Given the description of an element on the screen output the (x, y) to click on. 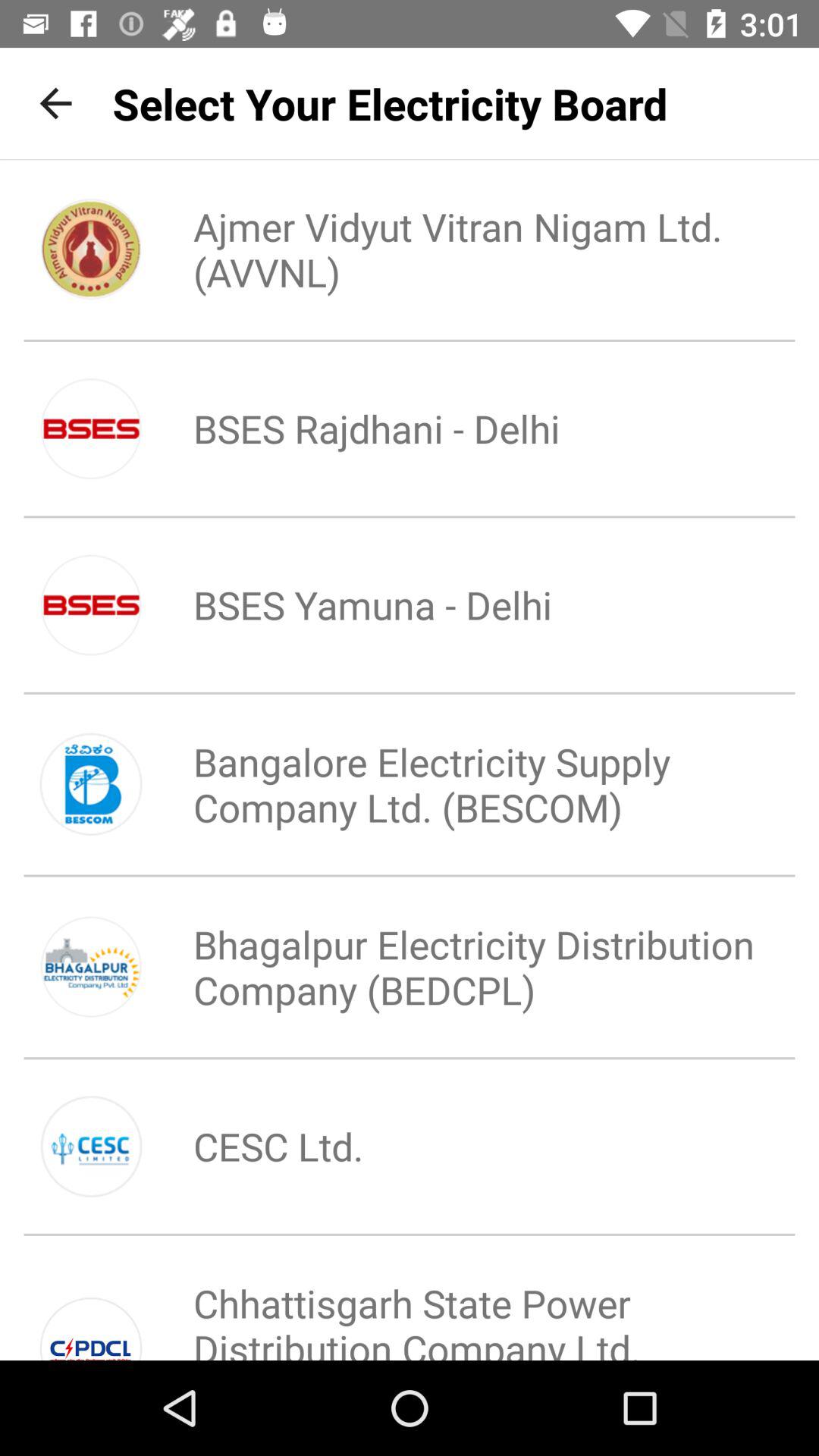
select the item above cesc ltd. (460, 966)
